Given the description of an element on the screen output the (x, y) to click on. 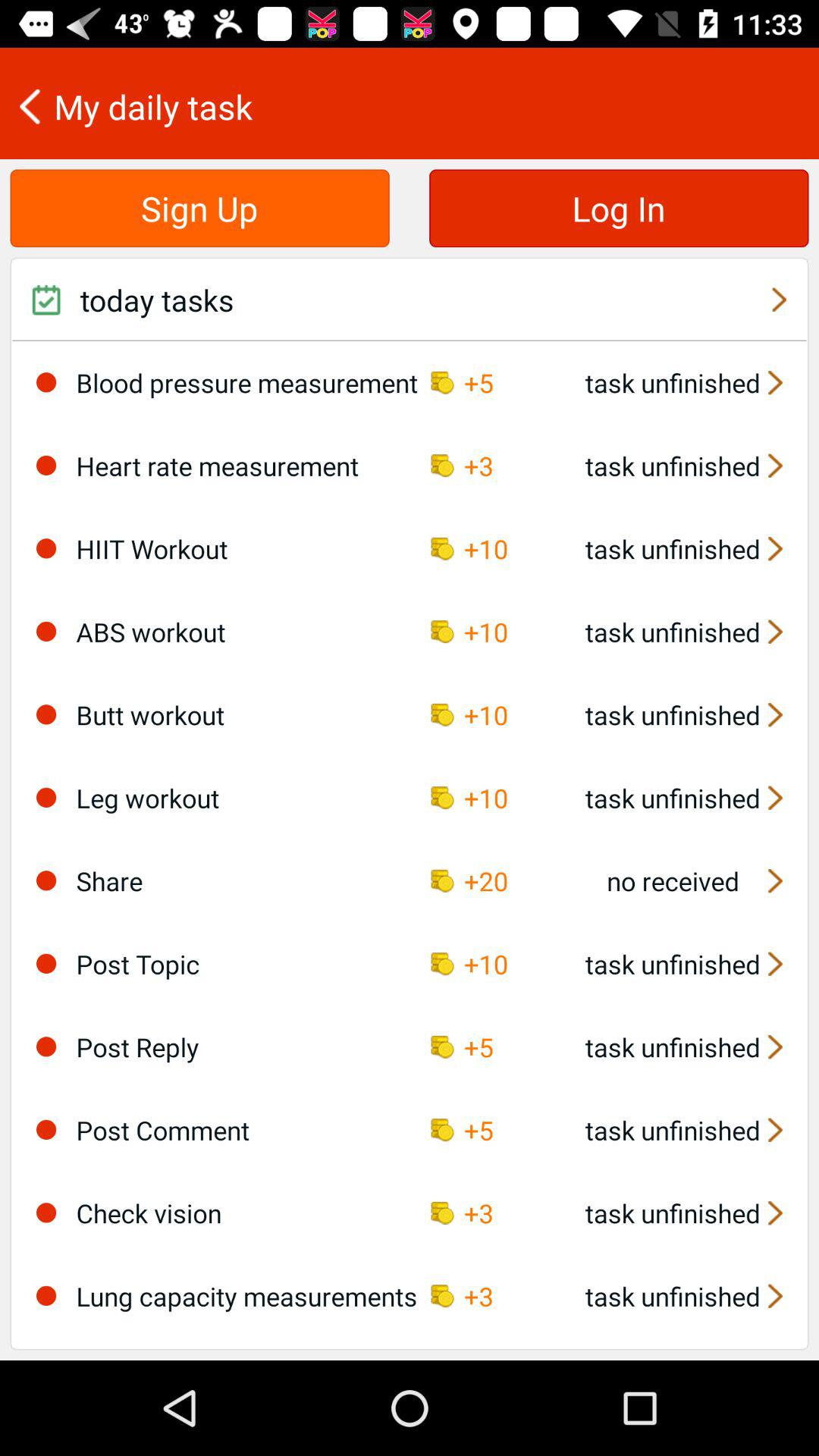
the task of posting a reply (46, 1046)
